Given the description of an element on the screen output the (x, y) to click on. 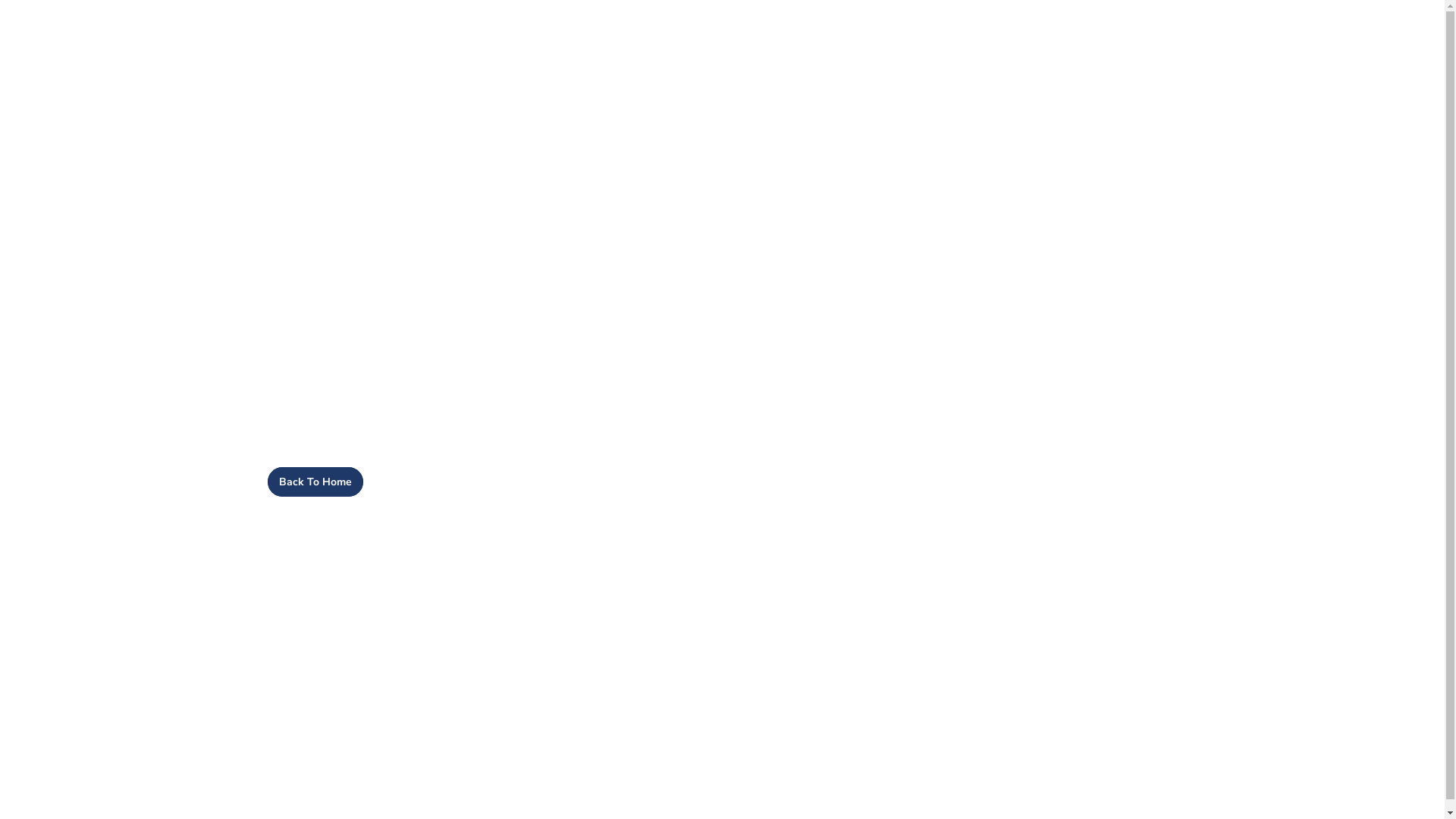
Back To Home Element type: text (314, 481)
